Given the description of an element on the screen output the (x, y) to click on. 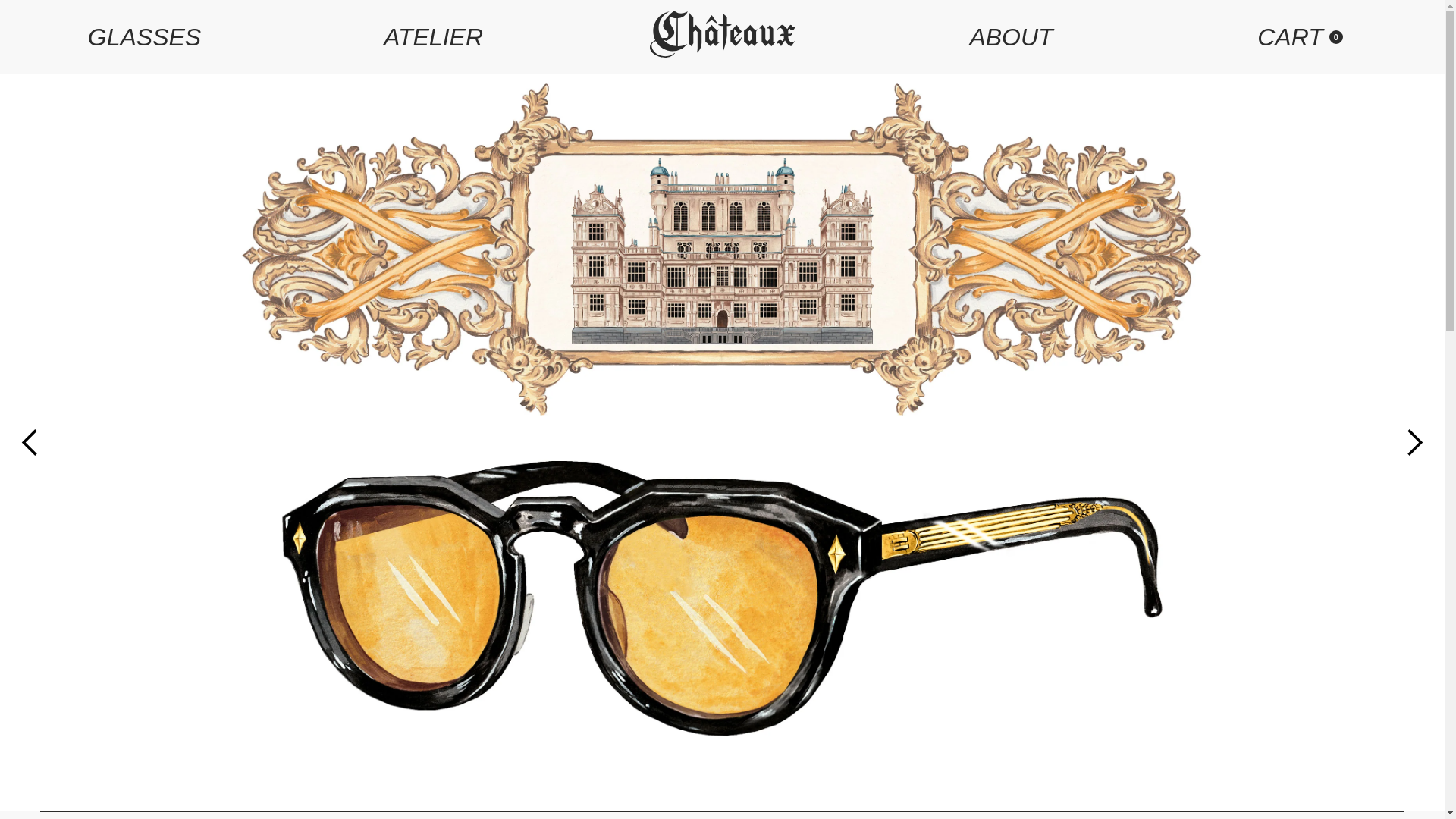
ABOUT (1300, 37)
GLASSES (1010, 37)
ATELIER (143, 37)
